Given the description of an element on the screen output the (x, y) to click on. 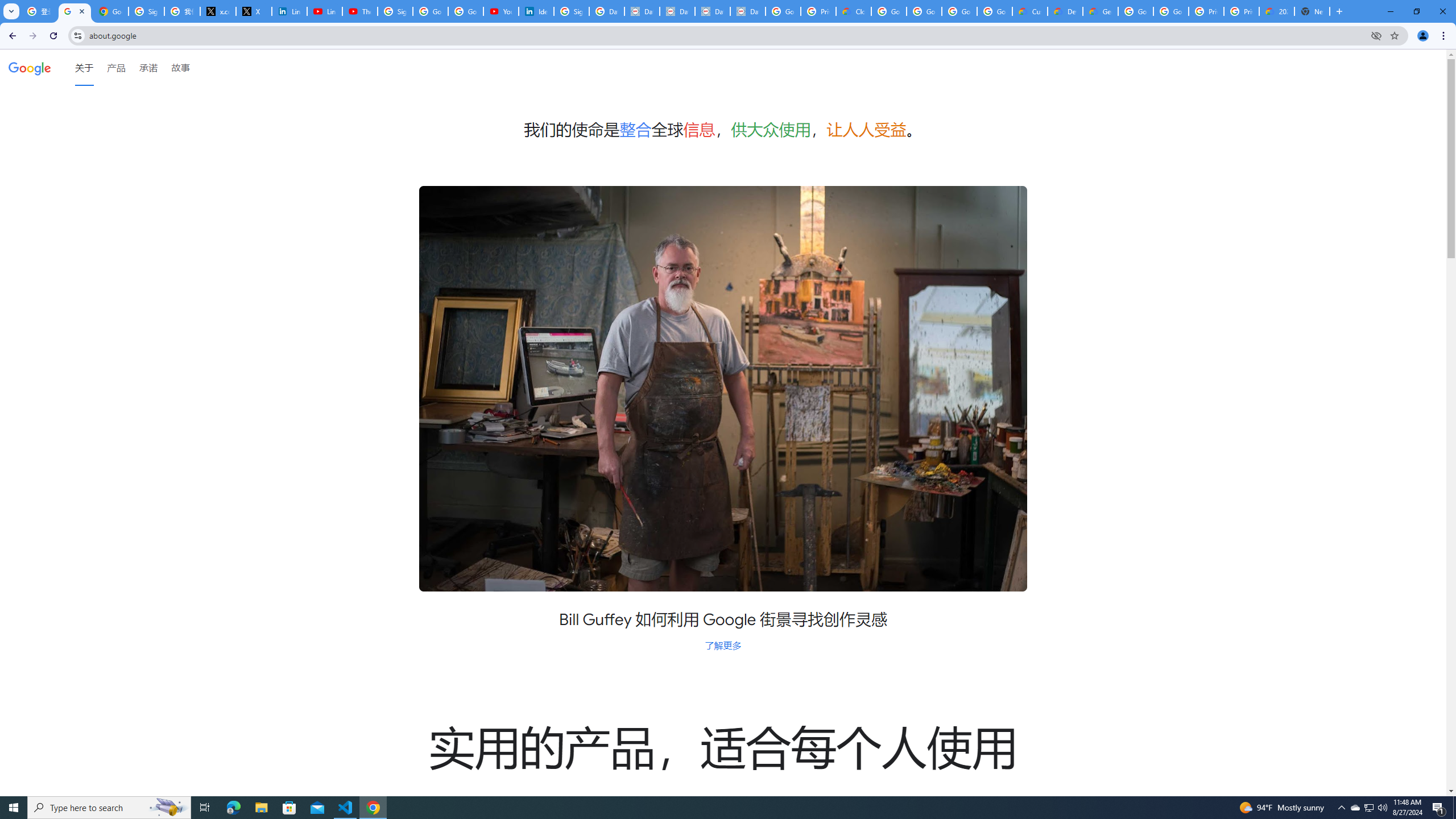
Gemini for Business and Developers | Google Cloud (1099, 11)
Customer Care | Google Cloud (1029, 11)
LinkedIn - YouTube (324, 11)
Data Privacy Framework (641, 11)
Sign in - Google Accounts (394, 11)
